Given the description of an element on the screen output the (x, y) to click on. 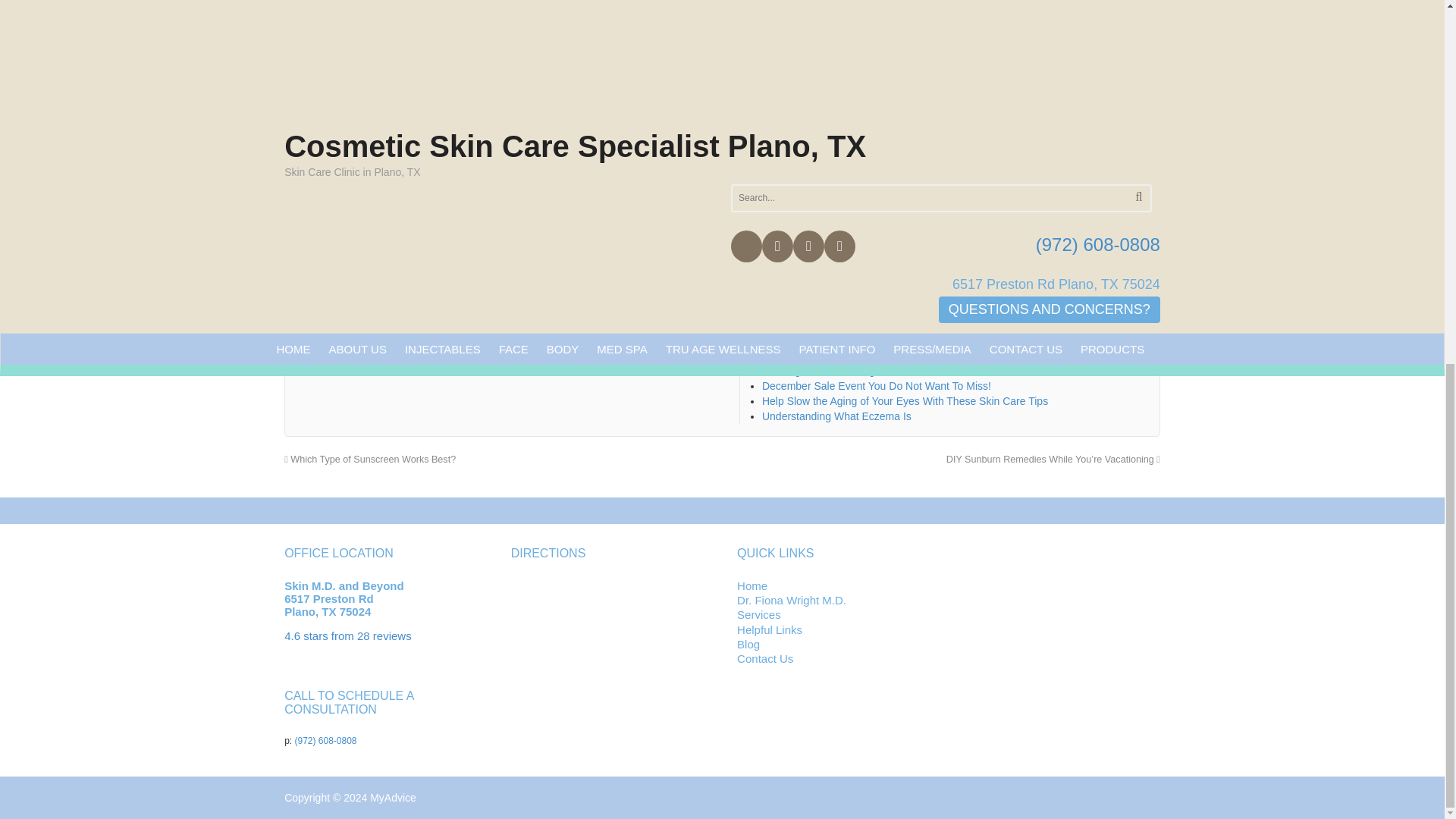
Help Slow the Aging of Your Eyes With These Skin Care Tips (904, 400)
How to Treat Sunspots and Hyperpigmentation (871, 355)
Understanding What Eczema Is (836, 416)
December Sale Event You Do Not Want To Miss! (876, 386)
RSS (306, 360)
